Given the description of an element on the screen output the (x, y) to click on. 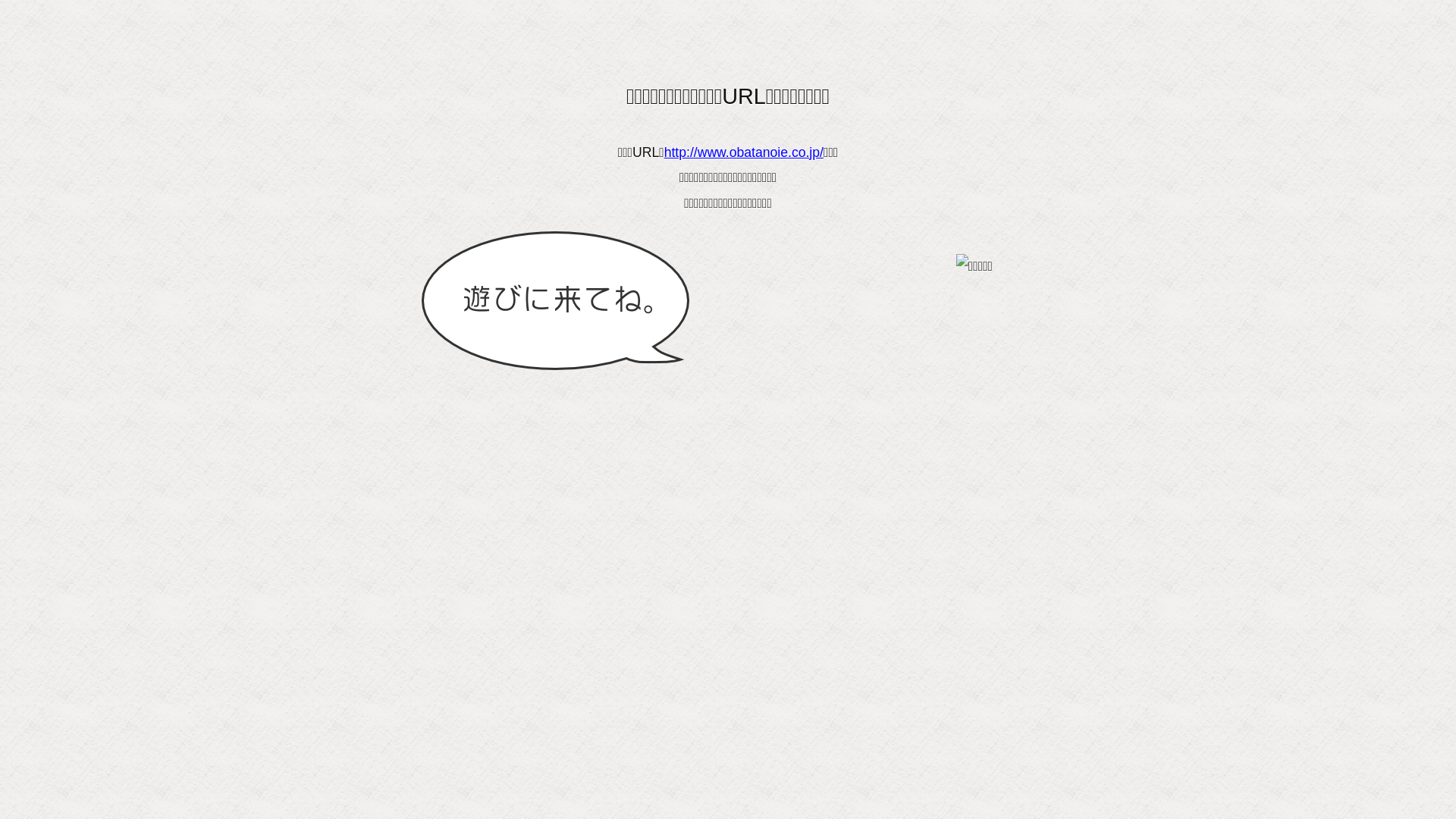
http://www.obatanoie.co.jp/ Element type: text (743, 152)
